Given the description of an element on the screen output the (x, y) to click on. 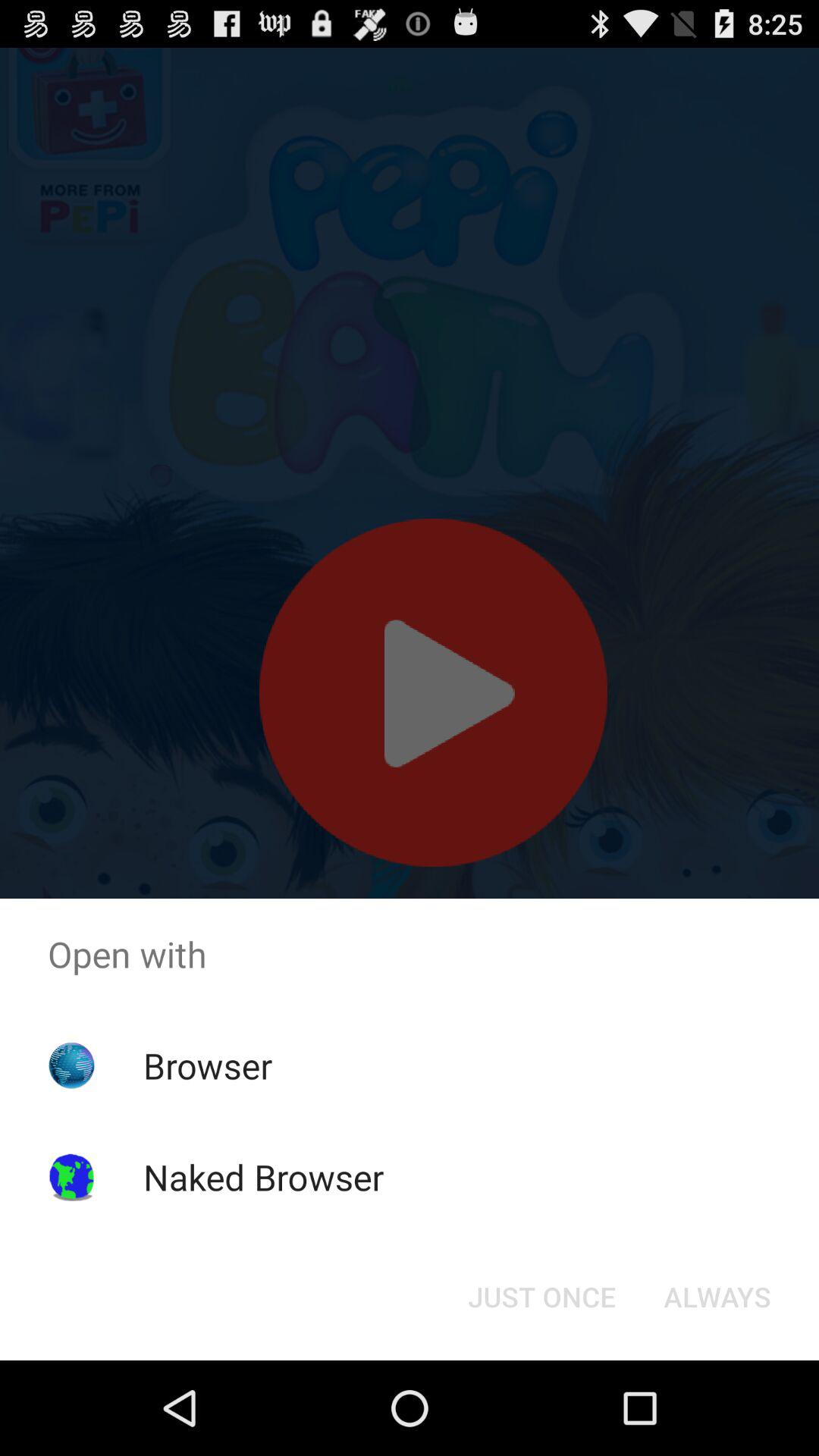
select icon below the open with icon (717, 1296)
